Given the description of an element on the screen output the (x, y) to click on. 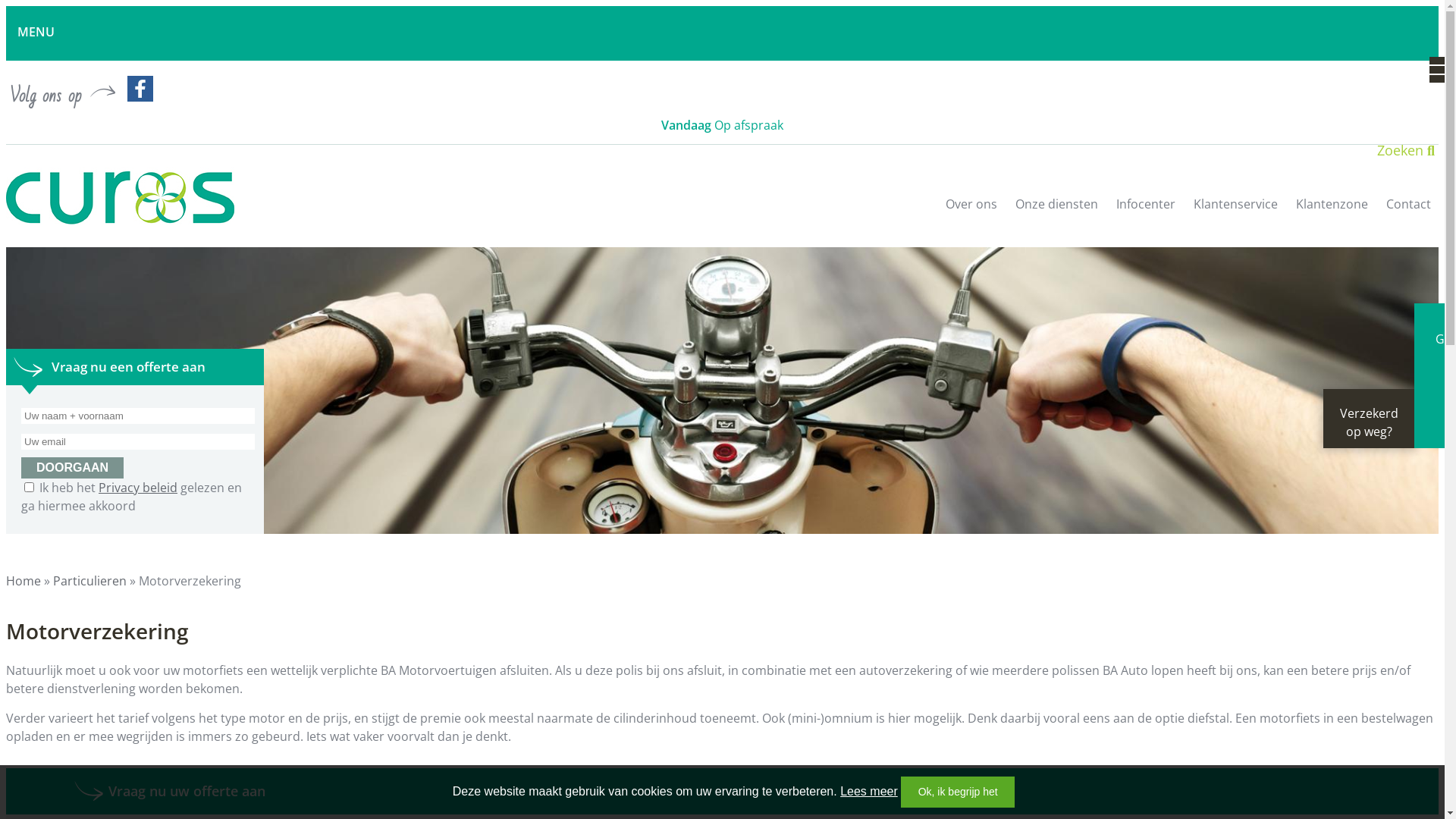
Klantenzone Element type: text (1331, 214)
Ok, ik begrijp het Element type: text (957, 791)
Over ons Element type: text (971, 214)
Privacy beleid Element type: text (137, 487)
Lees meer Element type: text (868, 790)
Particulieren Element type: text (89, 580)
Home Element type: text (23, 580)
leadgen Element type: hover (722, 390)
Doorgaan Element type: text (72, 467)
Contact Element type: text (1408, 214)
Infocenter Element type: text (1145, 214)
Onze diensten Element type: text (1056, 214)
Klantenservice Element type: text (1235, 214)
